Given the description of an element on the screen output the (x, y) to click on. 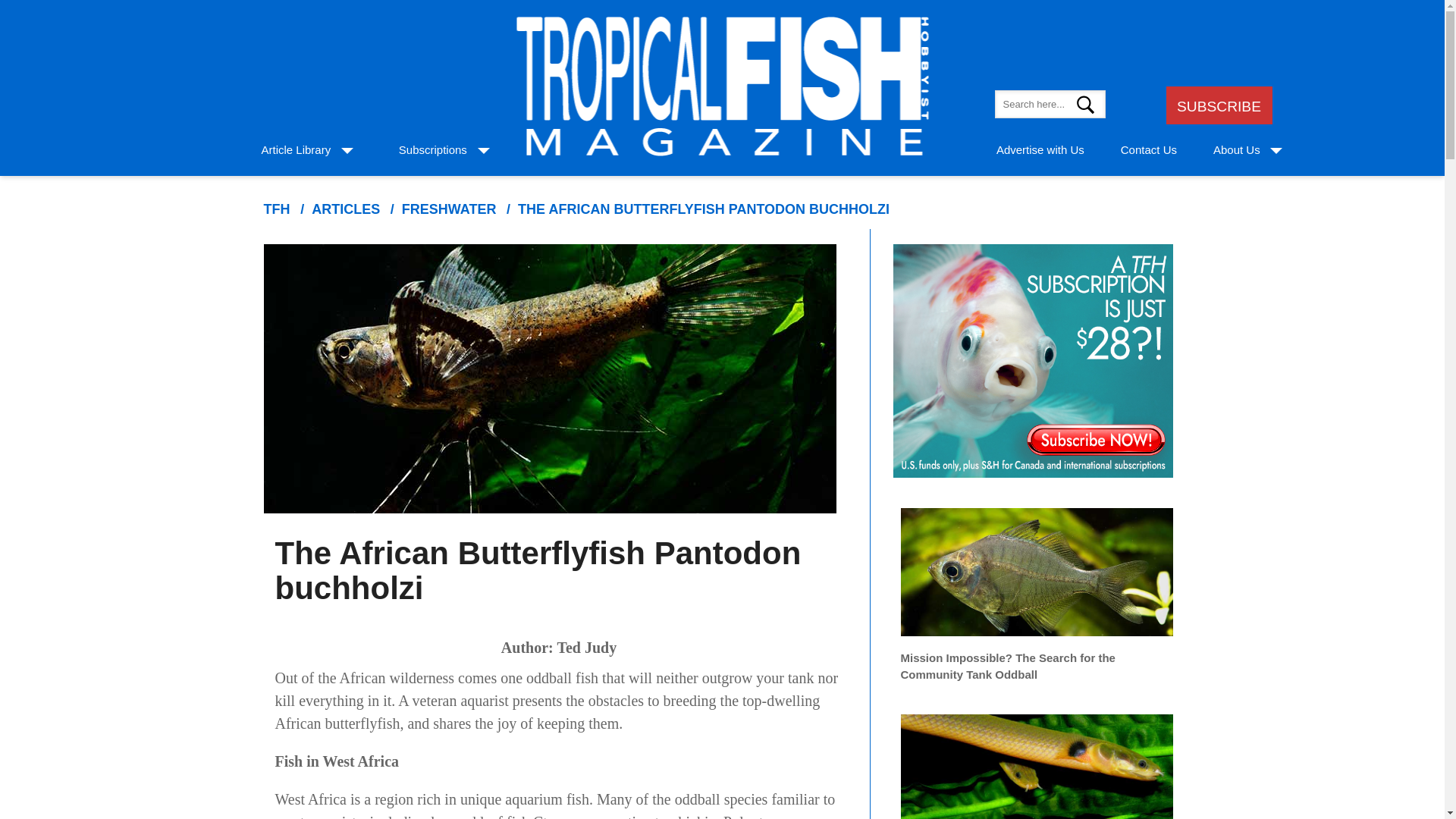
Freshwater Oddballs from Around the World (1037, 759)
Contact Us (1148, 149)
freshwater (448, 209)
Home (276, 209)
About Us (1236, 149)
TFH (276, 209)
SUBSCRIBE (1218, 106)
the-african-butterflyfish-pantodon-buchholzi (703, 209)
THE AFRICAN BUTTERFLYFISH PANTODON BUCHHOLZI (703, 209)
